Given the description of an element on the screen output the (x, y) to click on. 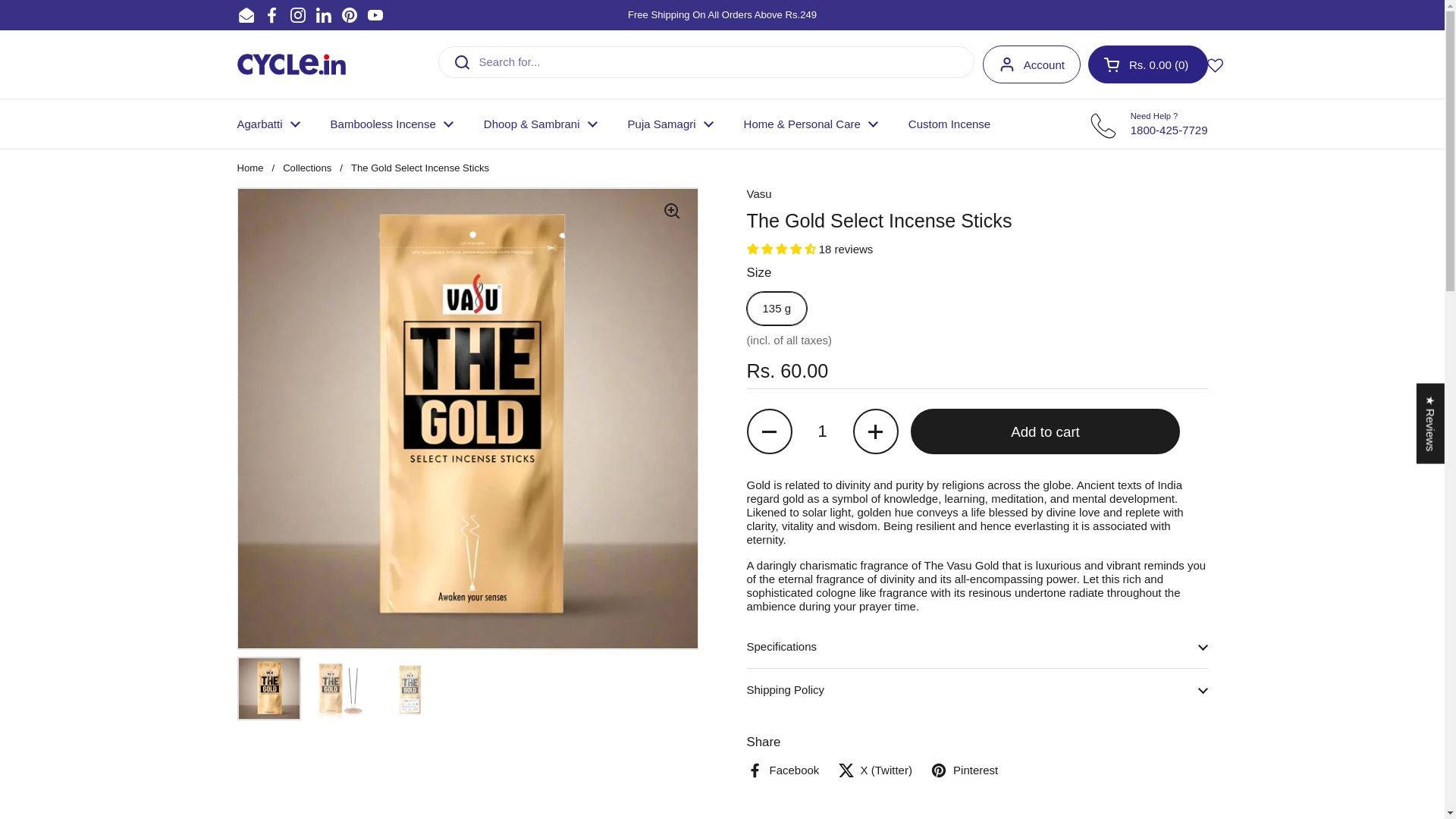
Open cart (1147, 64)
Instagram (1147, 64)
YouTube (296, 14)
LinkedIn (374, 14)
Pinterest (322, 14)
Agarbatti (348, 14)
Email (267, 123)
Account (244, 14)
Facebook (1031, 64)
1 (271, 14)
Skip to content (822, 431)
Agarbatti (290, 64)
